Given the description of an element on the screen output the (x, y) to click on. 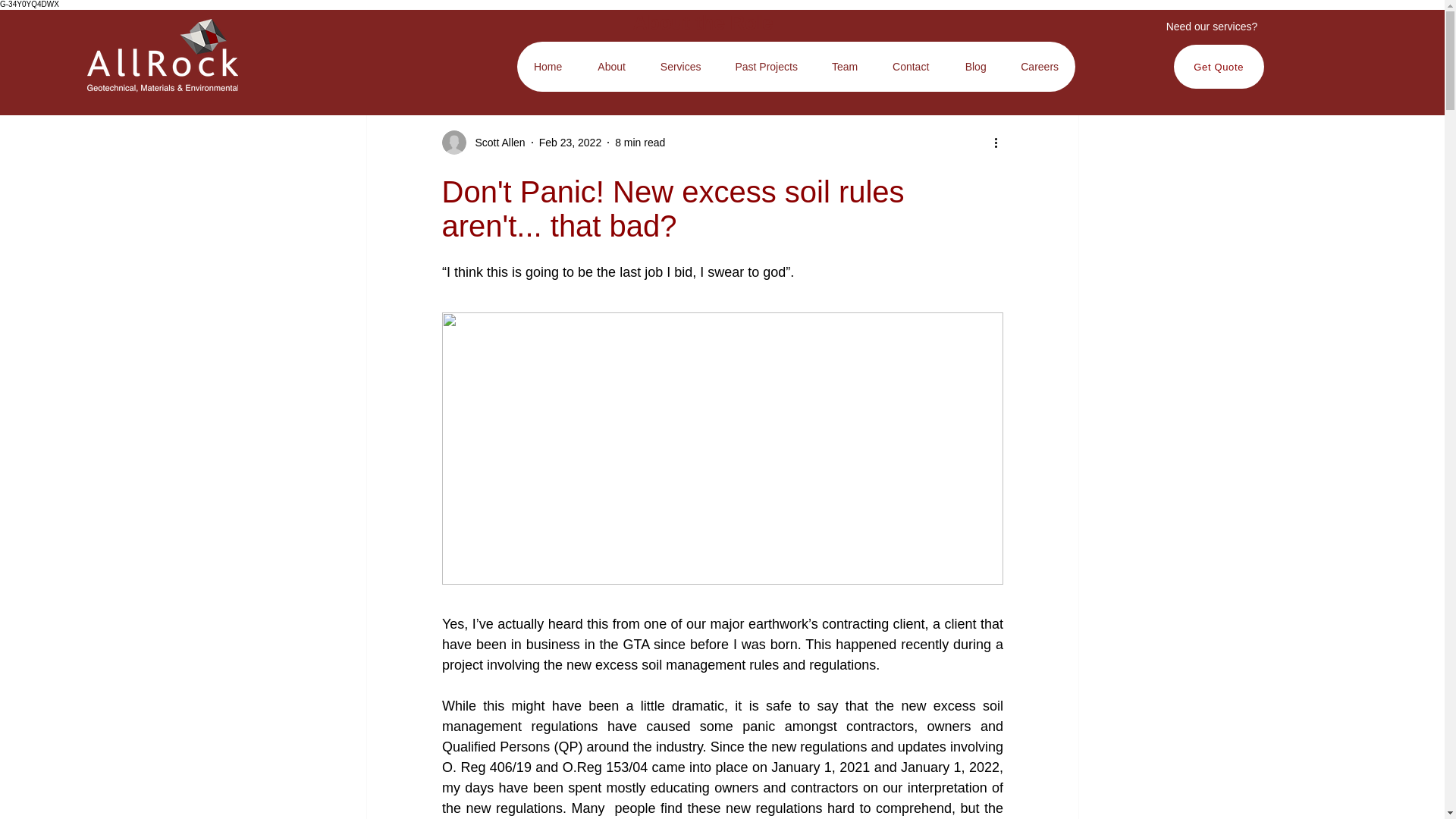
Home (547, 66)
Feb 23, 2022 (570, 142)
All Posts (388, 37)
Team (845, 66)
Blog (975, 66)
Careers (1039, 66)
Past Projects (766, 66)
Scott Allen (494, 142)
About (611, 66)
8 min read (639, 142)
Contact (911, 66)
